Given the description of an element on the screen output the (x, y) to click on. 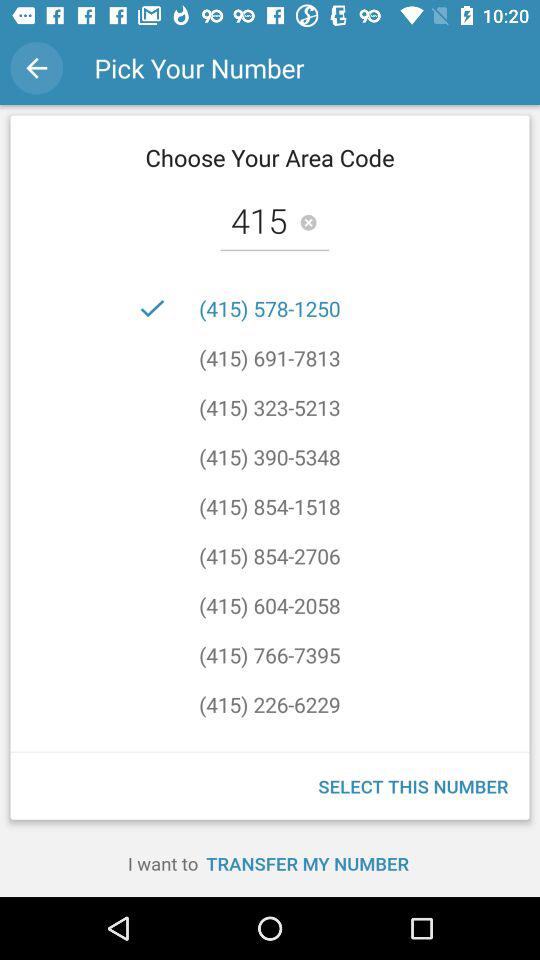
select (415) 323-5213 (269, 407)
